Given the description of an element on the screen output the (x, y) to click on. 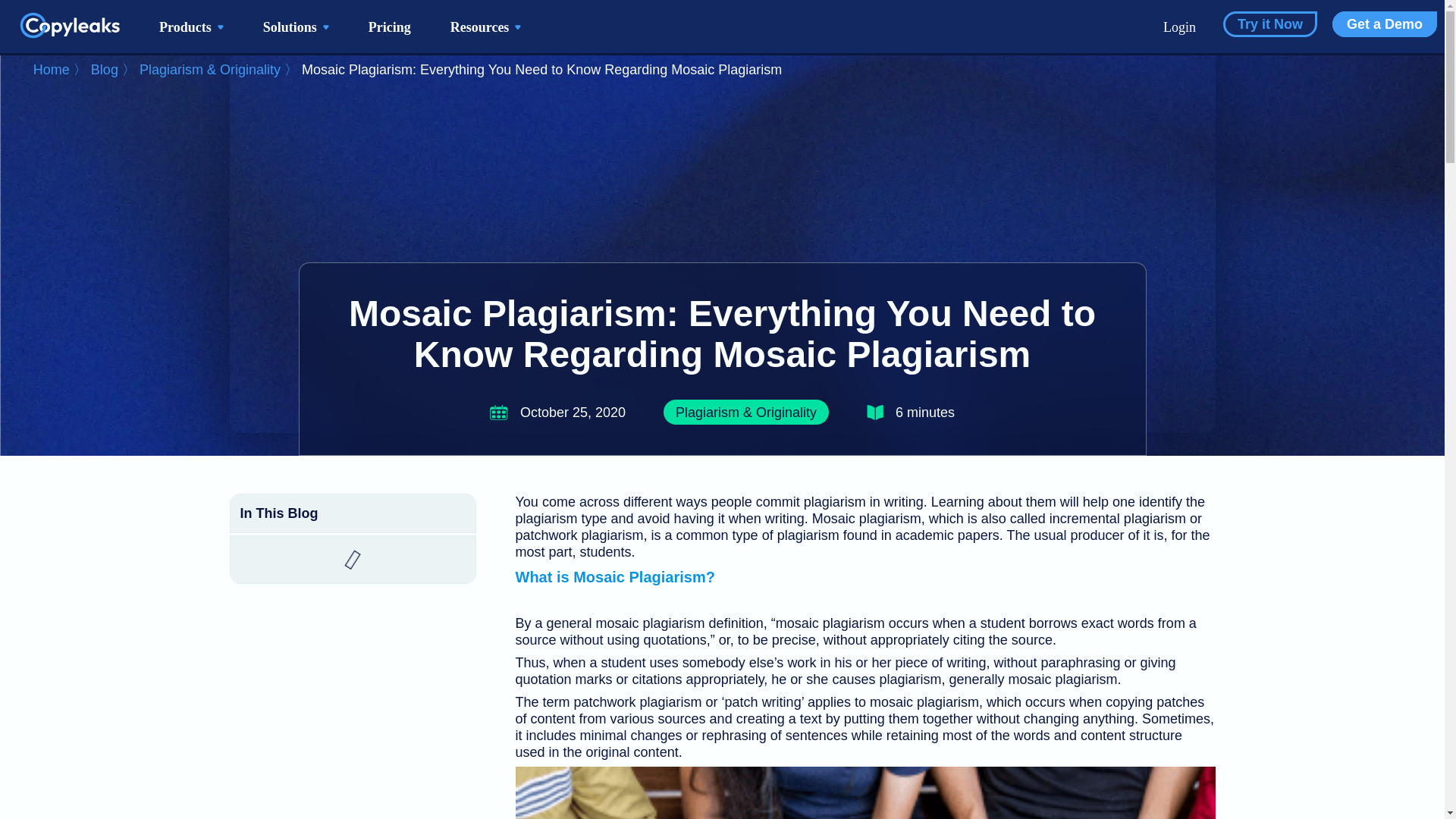
Solutions (295, 26)
Pricing (389, 26)
Products (191, 26)
Resources (486, 26)
